Given the description of an element on the screen output the (x, y) to click on. 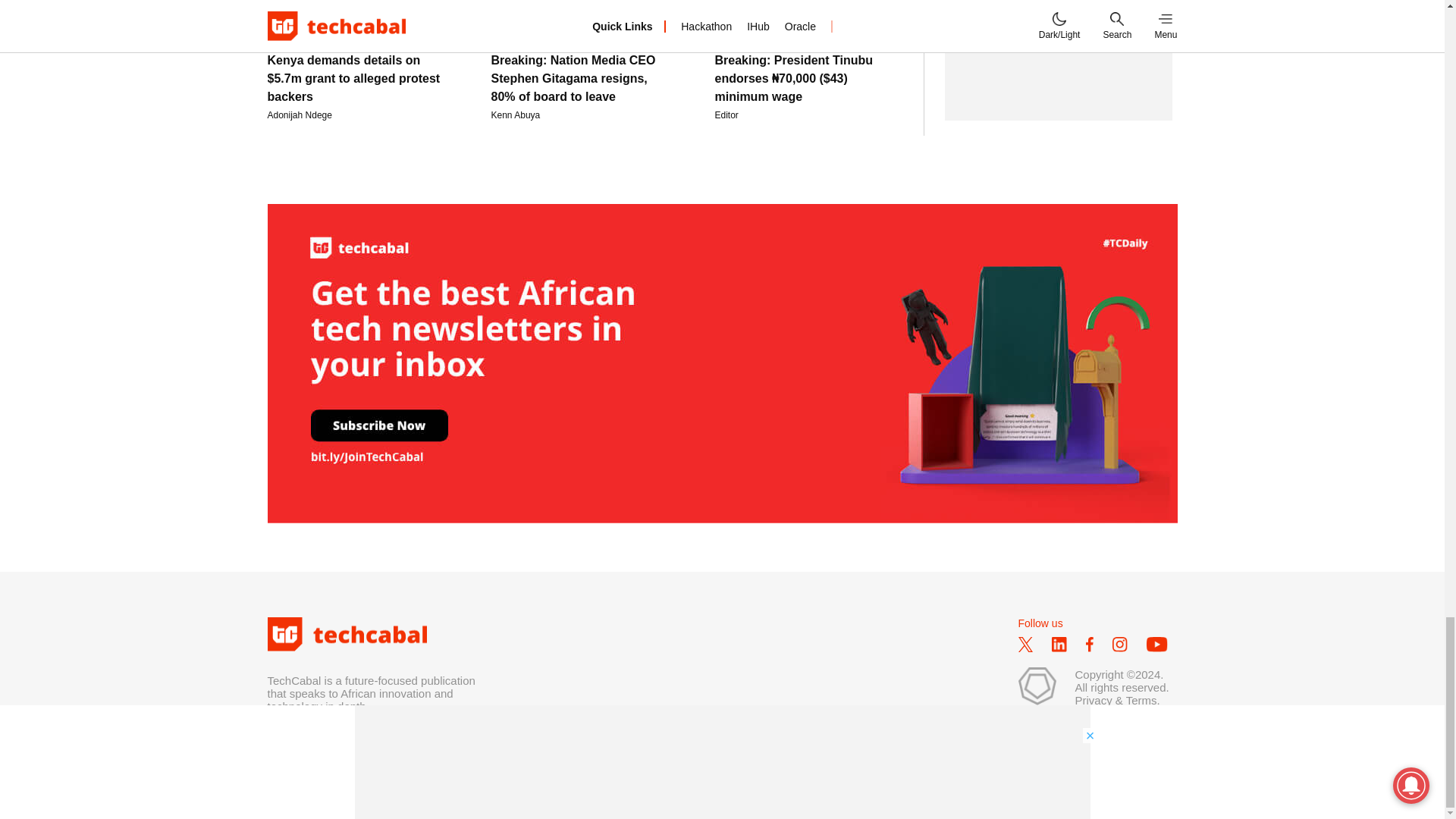
Posts by Kenn Abuya (516, 114)
Posts by Adonijah Ndege (298, 114)
Posts by Editor (726, 114)
